Given the description of an element on the screen output the (x, y) to click on. 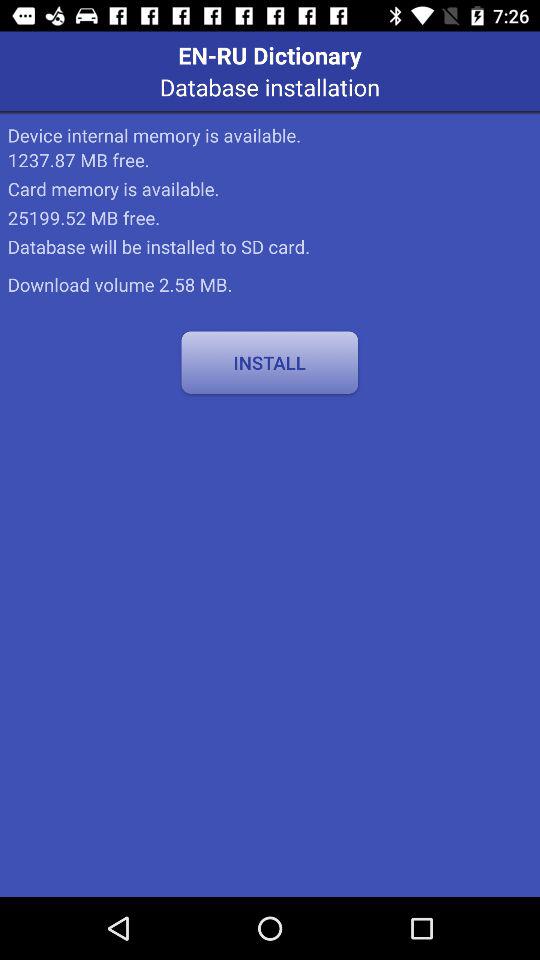
turn on the icon at the center (269, 362)
